Given the description of an element on the screen output the (x, y) to click on. 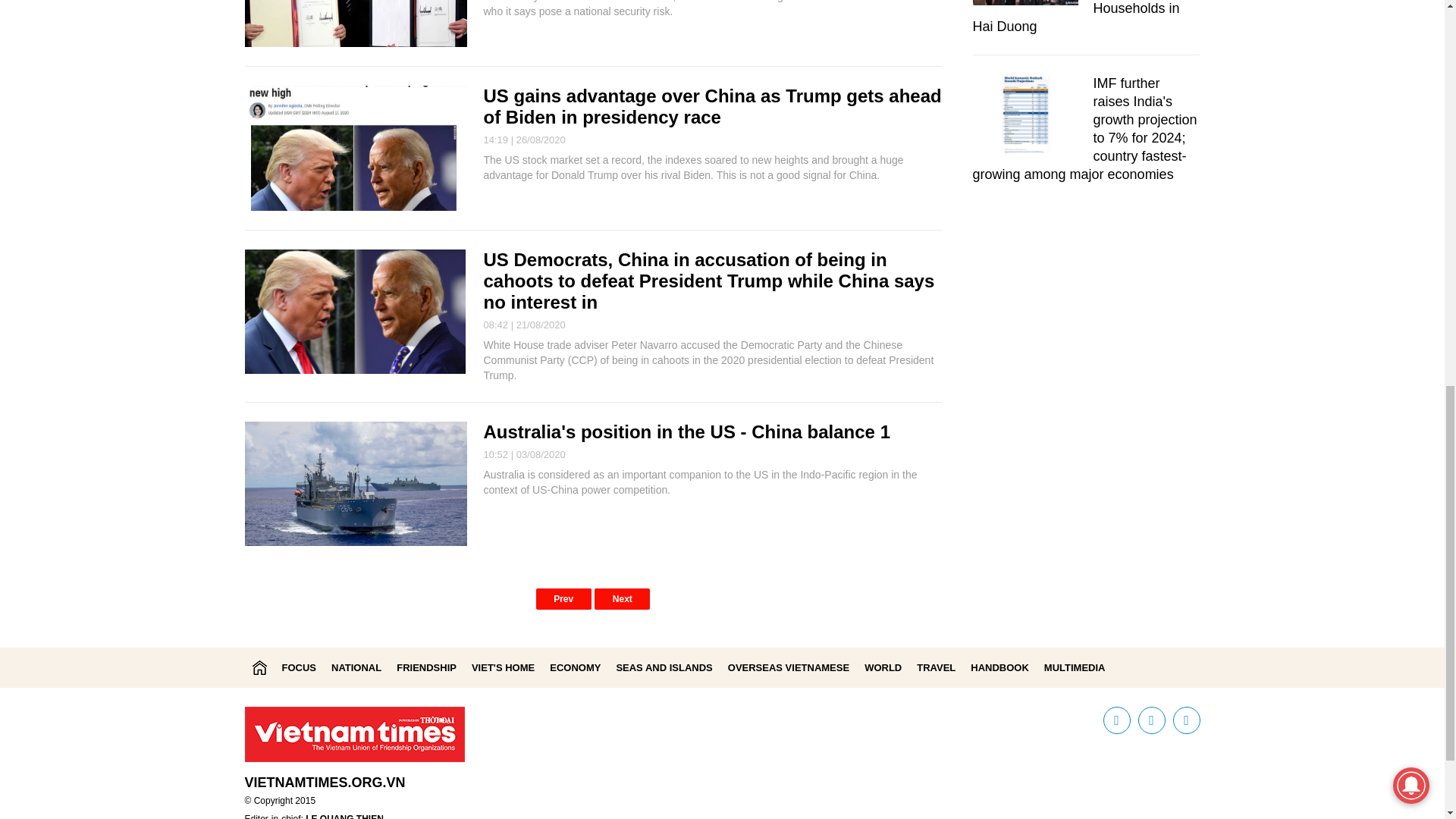
Australia's position in the US - China balance (679, 431)
Vietnam Times (258, 667)
